Given the description of an element on the screen output the (x, y) to click on. 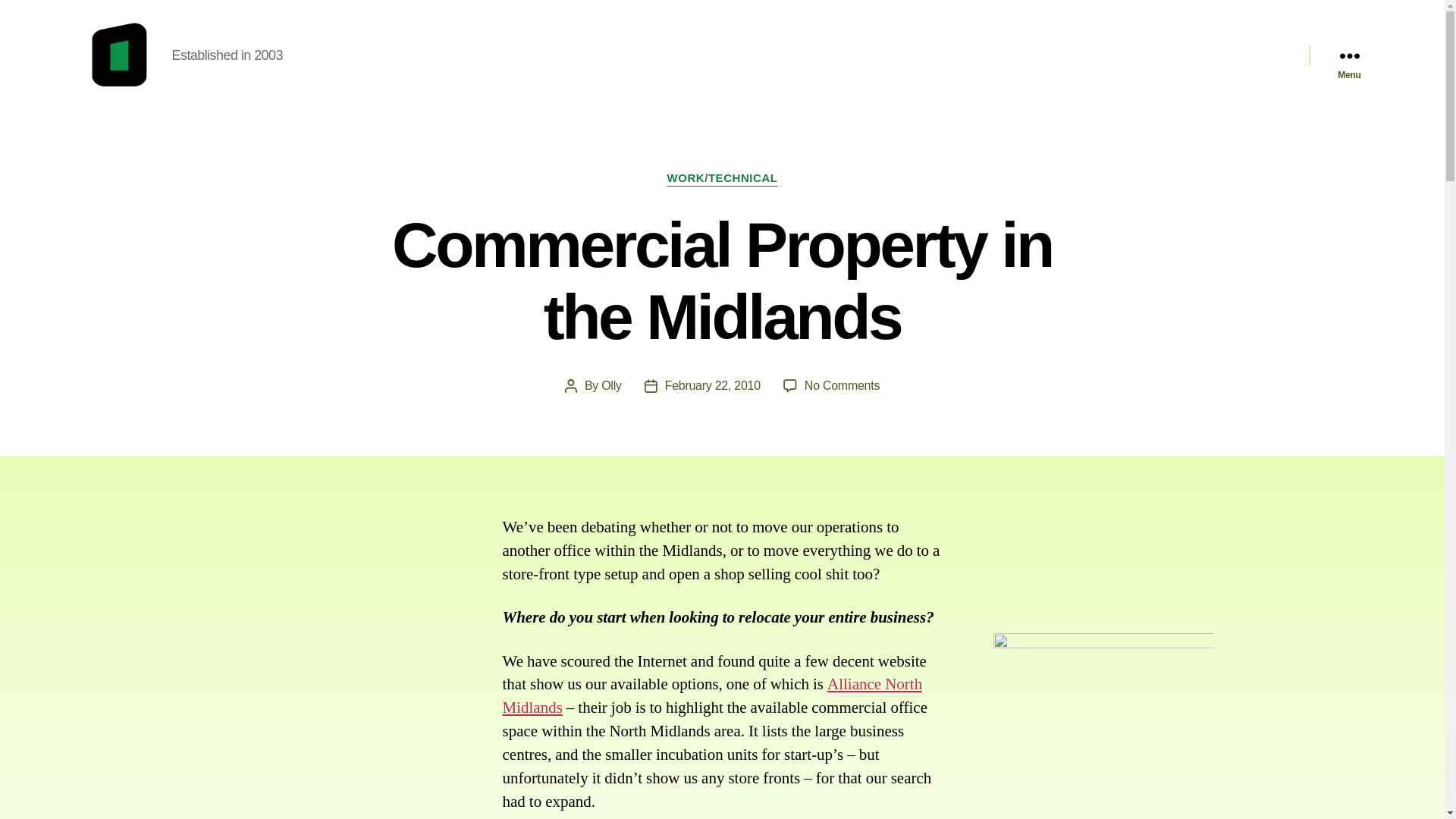
Alliance North Midlands (711, 696)
Menu (1348, 55)
Olly (611, 385)
February 22, 2010 (712, 385)
Commercial Property Midlands (842, 385)
Relocating Businesses in the Midlands (711, 696)
